Given the description of an element on the screen output the (x, y) to click on. 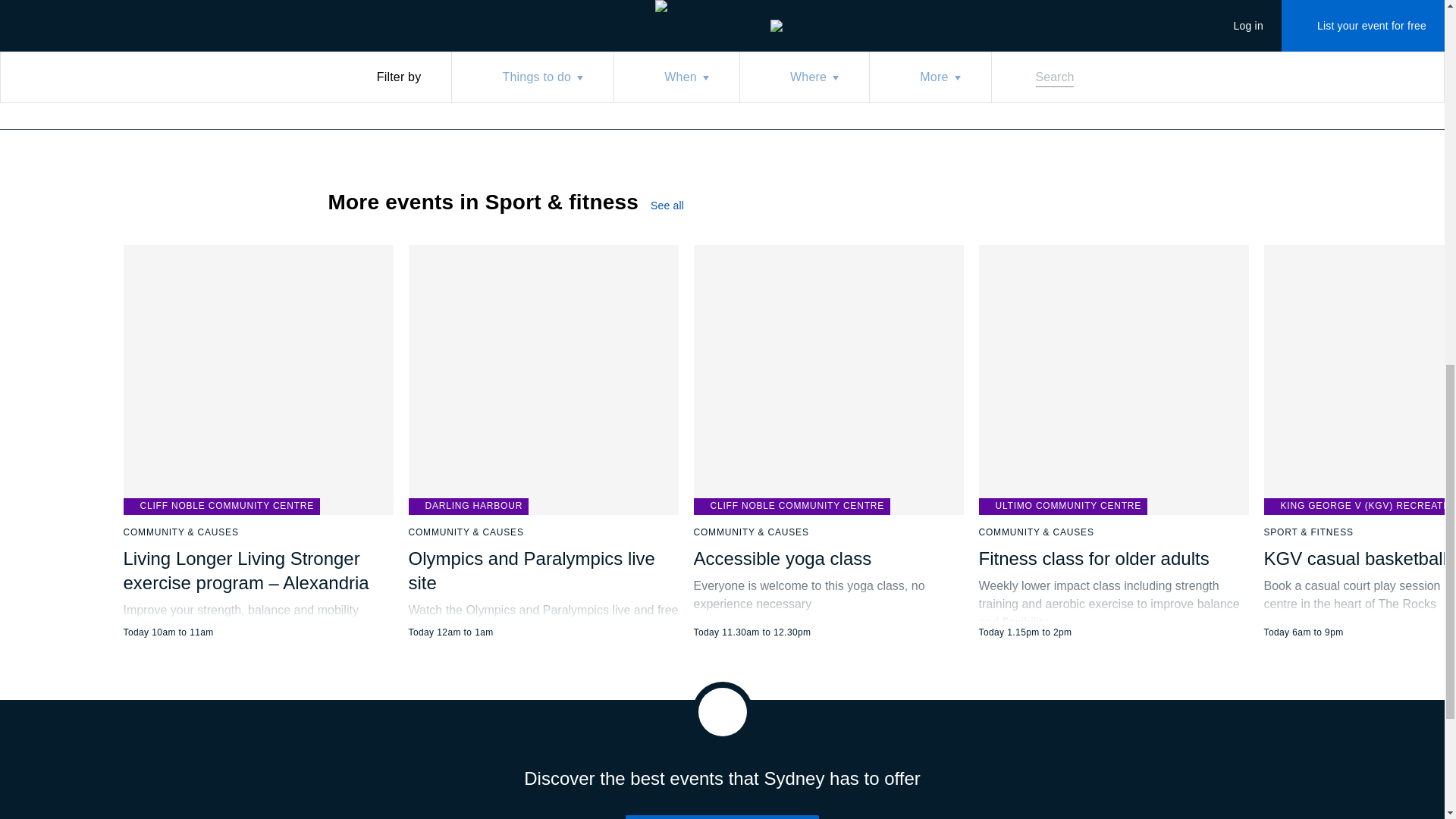
CYCLING (584, 20)
Cycling (584, 20)
ULTIMO COMMUNITY CENTRE (1062, 506)
CLIFF NOBLE COMMUNITY CENTRE (221, 506)
CLIFF NOBLE COMMUNITY CENTRE (791, 506)
DARLING HARBOUR (467, 506)
Family (351, 20)
BIKE TUNE-UPS (425, 20)
See all (680, 204)
Accessible yoga class (781, 557)
FAMILY (351, 20)
Bike tune-ups (425, 20)
Olympics and Paralympics live site (530, 569)
TRANSPORT (513, 20)
Transport (513, 20)
